Given the description of an element on the screen output the (x, y) to click on. 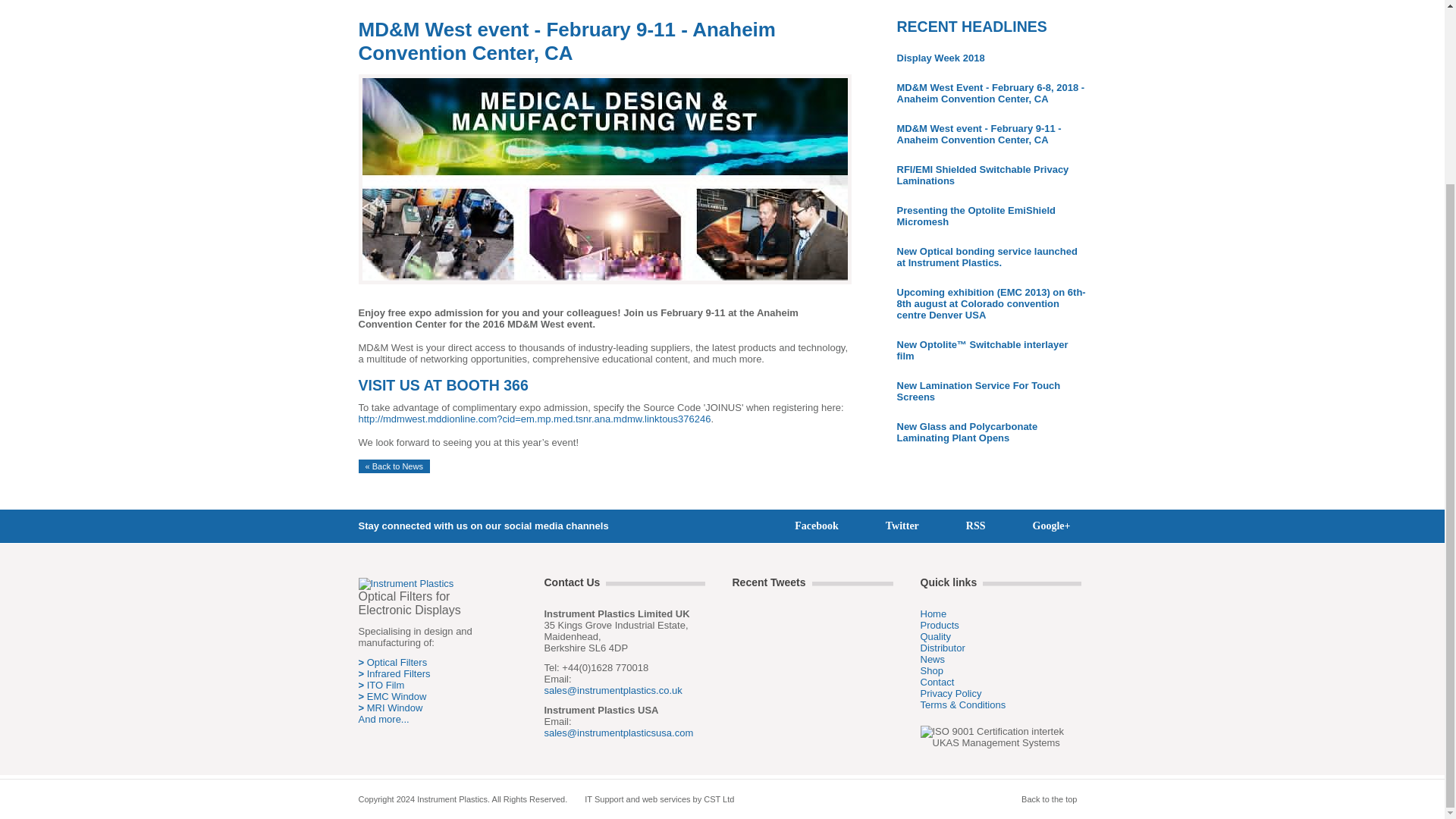
Optical Filters (396, 662)
Products (939, 624)
And more... (383, 718)
EMC Window (396, 696)
MRI Window (394, 707)
New Lamination Service For Touch Screens (977, 391)
New Glass and Polycarbonate Laminating Plant Opens (966, 431)
Home (933, 613)
Infrared Filters (398, 673)
Presenting the Optolite EmiShield Micromesh (975, 215)
